Given the description of an element on the screen output the (x, y) to click on. 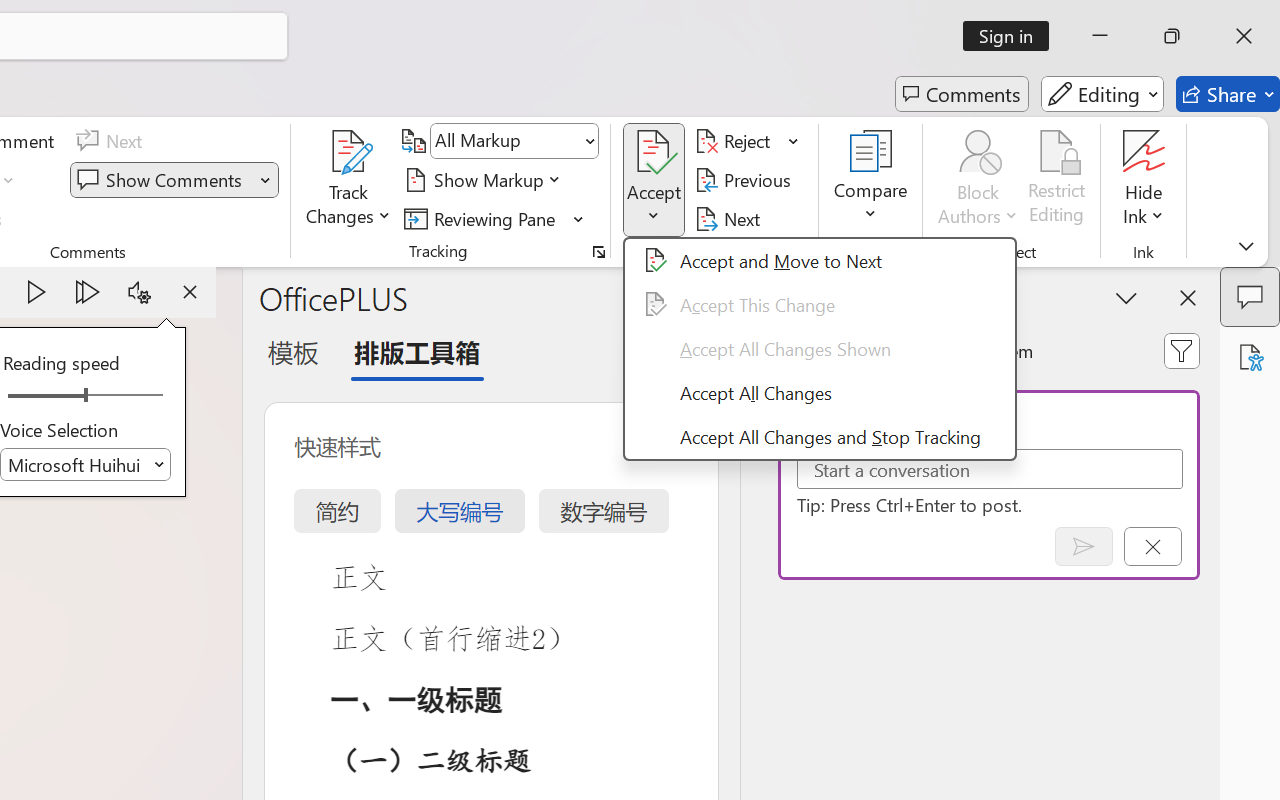
Sign in (1012, 35)
Show Comments (162, 179)
Reject and Move to Next (735, 141)
Track Changes (349, 179)
Hide Ink (1144, 151)
Hide Ink (1144, 179)
Settings (139, 292)
Show Comments (174, 179)
Editing (1101, 94)
Reading speed (85, 396)
Compare (870, 179)
